Given the description of an element on the screen output the (x, y) to click on. 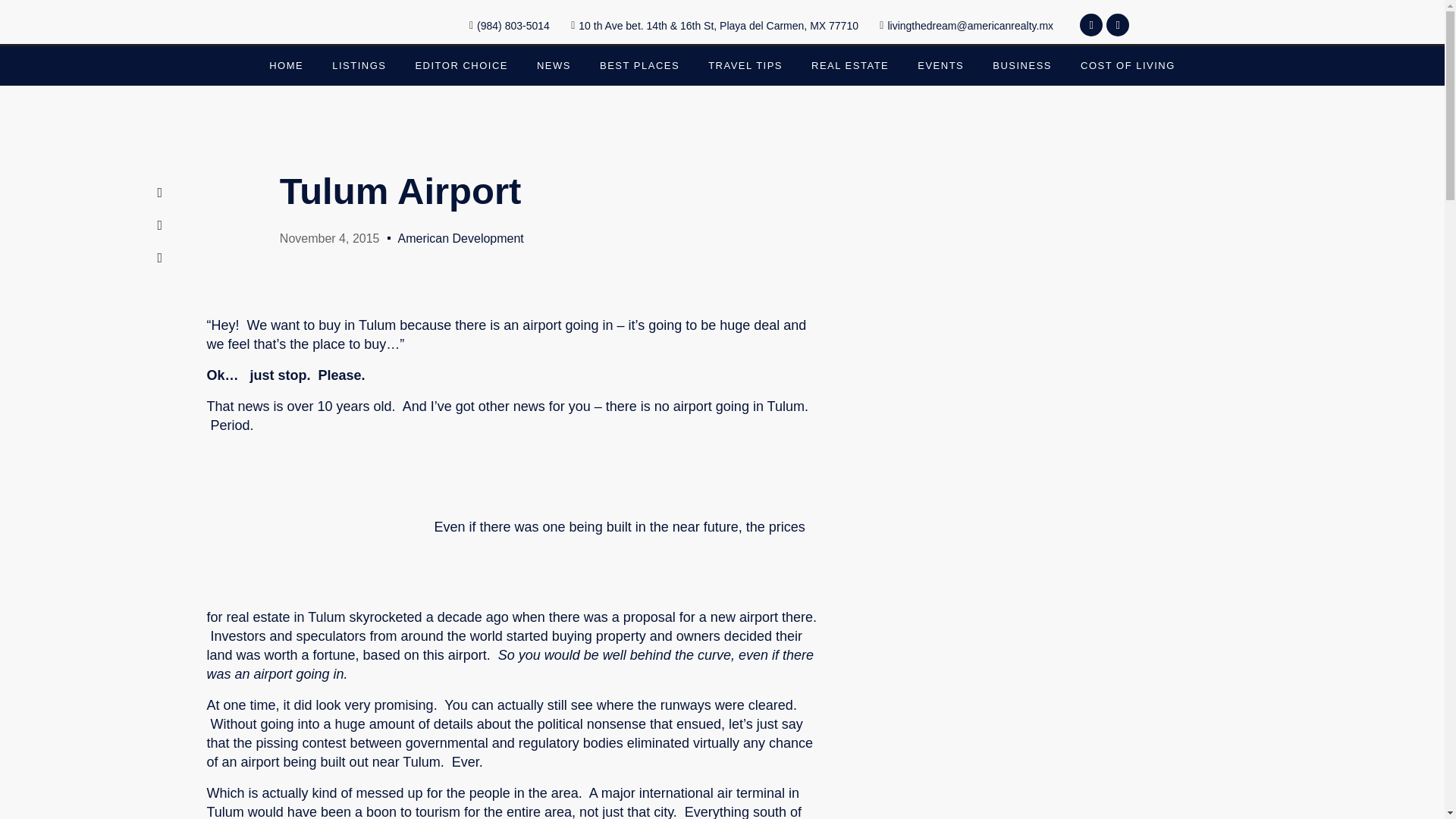
TRAVEL TIPS (745, 65)
EVENTS (940, 65)
REAL ESTATE (849, 65)
BUSINESS (1021, 65)
COST OF LIVING (1127, 65)
EDITOR CHOICE (461, 65)
BEST PLACES (639, 65)
LISTINGS (358, 65)
NEWS (553, 65)
HOME (285, 65)
